Given the description of an element on the screen output the (x, y) to click on. 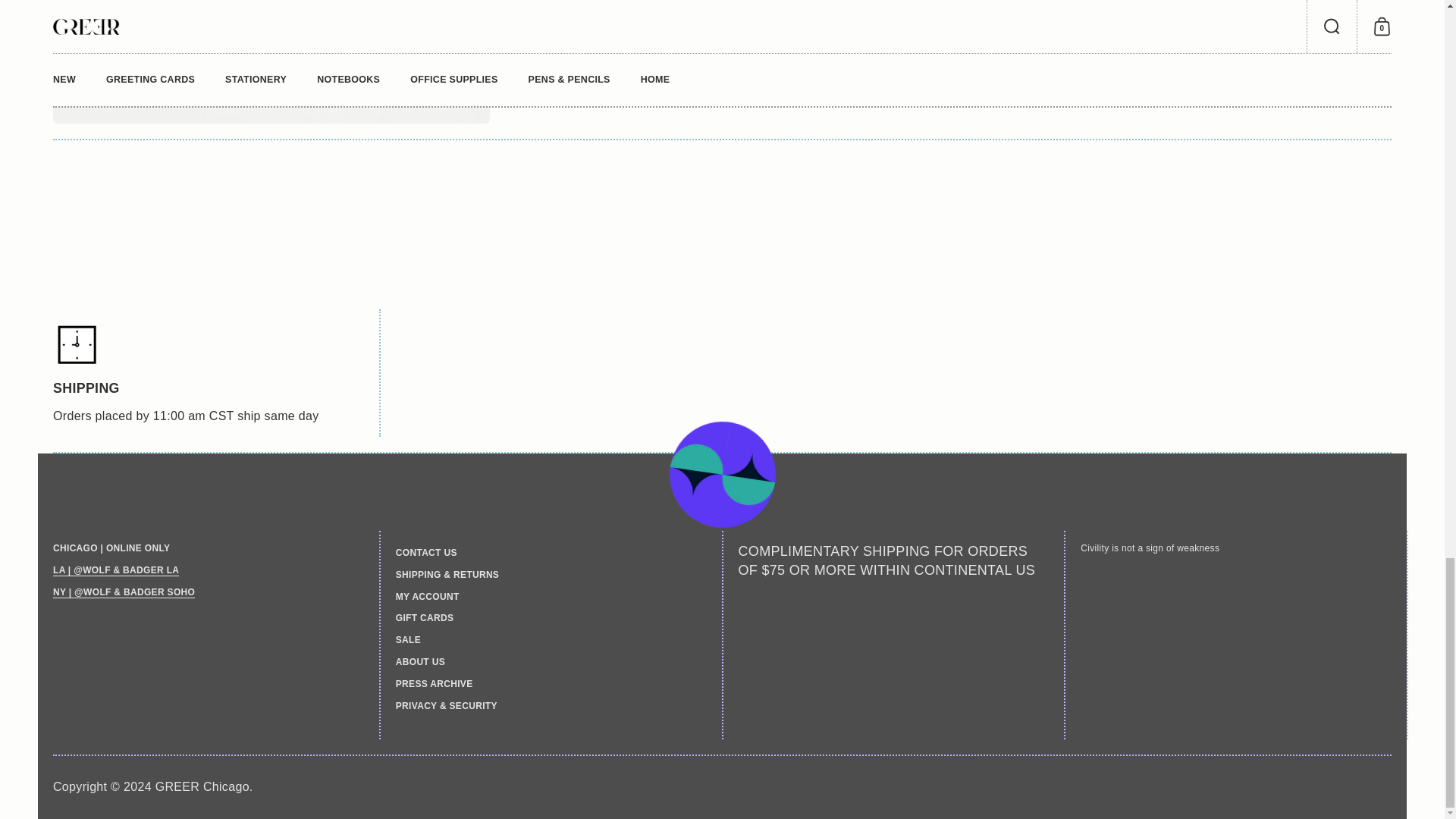
About Us (115, 570)
About Us (123, 592)
